Given the description of an element on the screen output the (x, y) to click on. 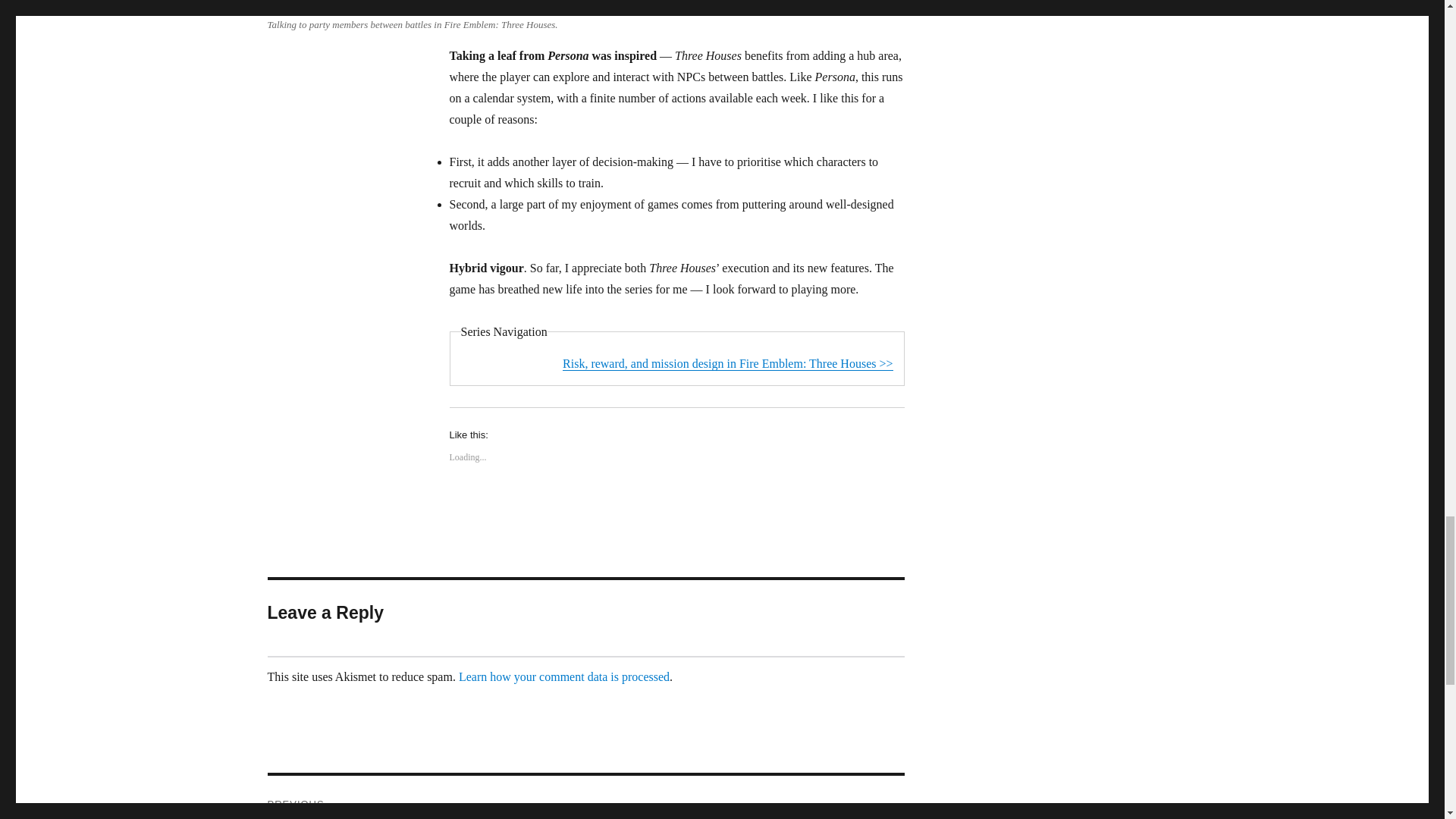
Learn how your comment data is processed (563, 676)
Comment Form (585, 797)
